Given the description of an element on the screen output the (x, y) to click on. 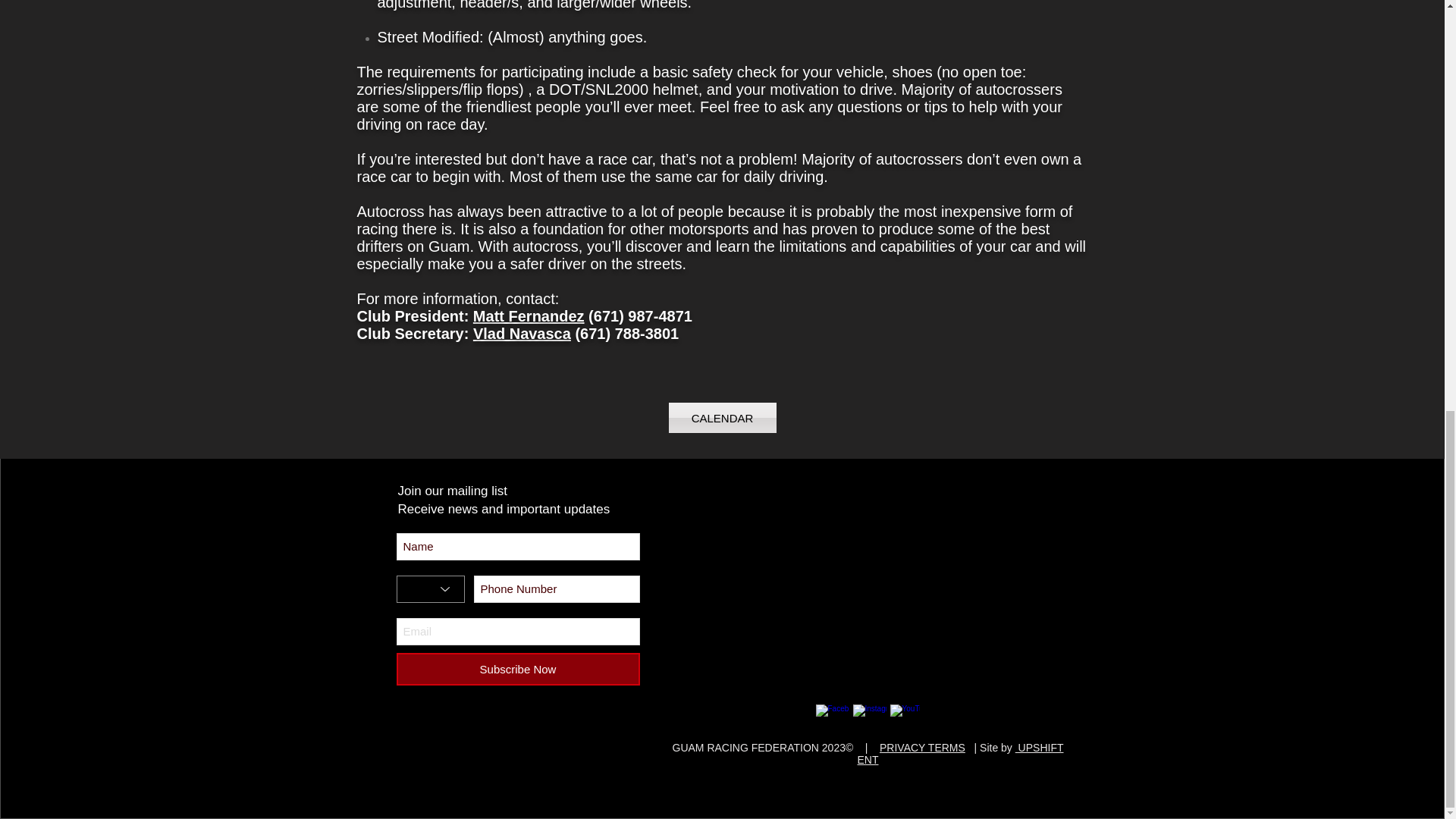
Email (517, 631)
PRIVACY TERMS (922, 747)
UPSHIFT ENT (959, 753)
Matt Fernandez (529, 315)
CALENDAR (722, 417)
Subscribe Now (517, 668)
Vlad Navasca (521, 333)
